Given the description of an element on the screen output the (x, y) to click on. 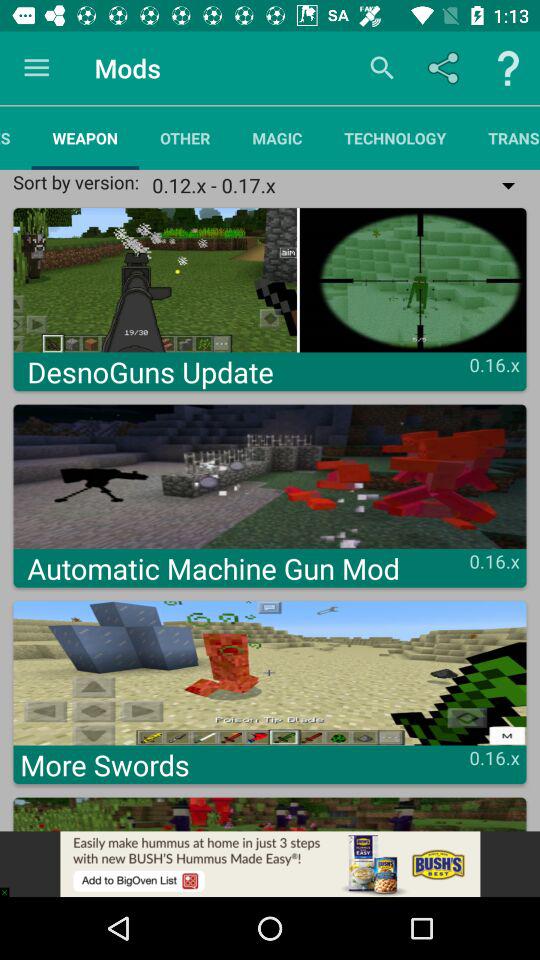
advertise into minecraft gameplay (270, 864)
